Given the description of an element on the screen output the (x, y) to click on. 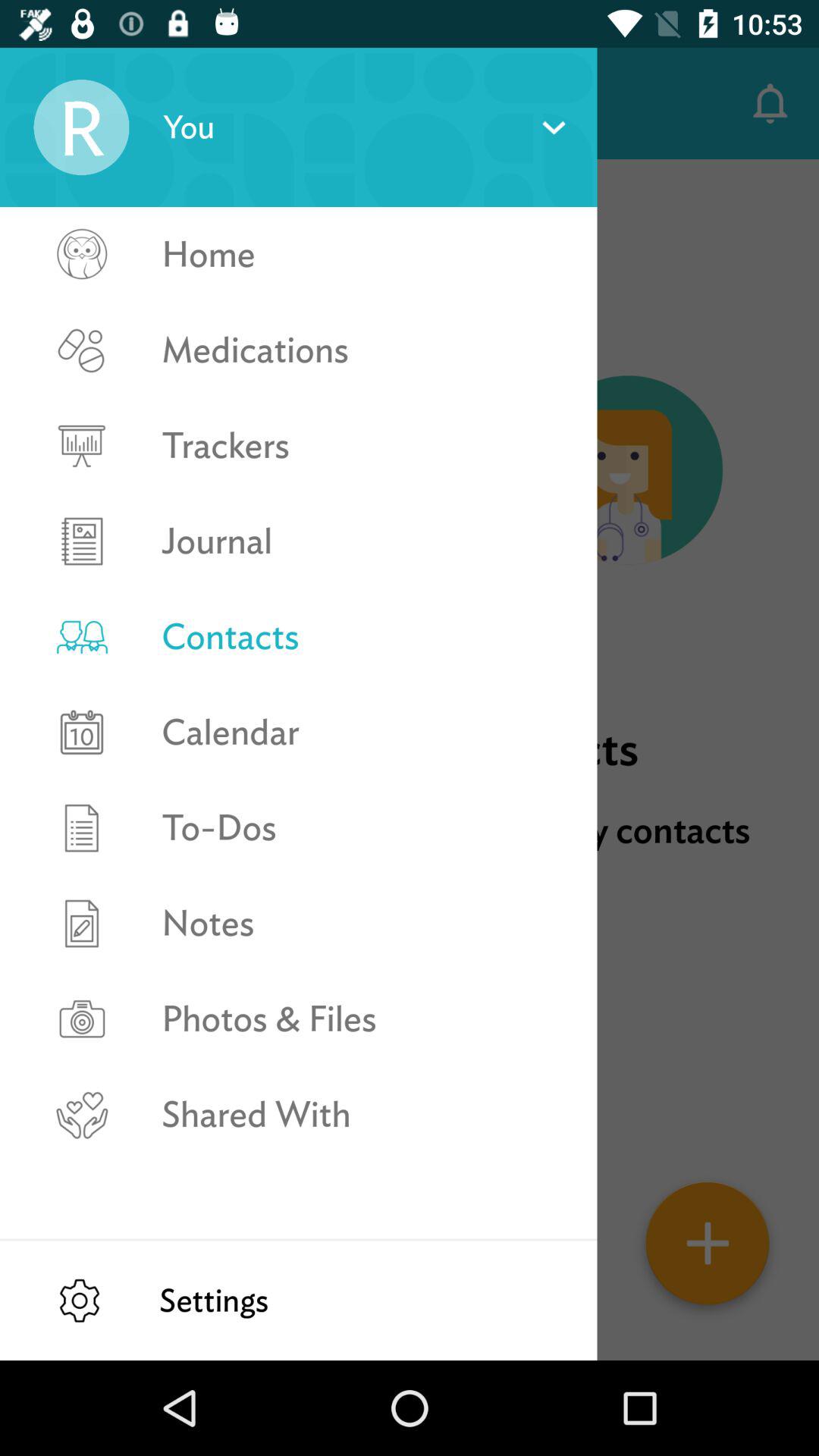
click the home item (363, 254)
